Given the description of an element on the screen output the (x, y) to click on. 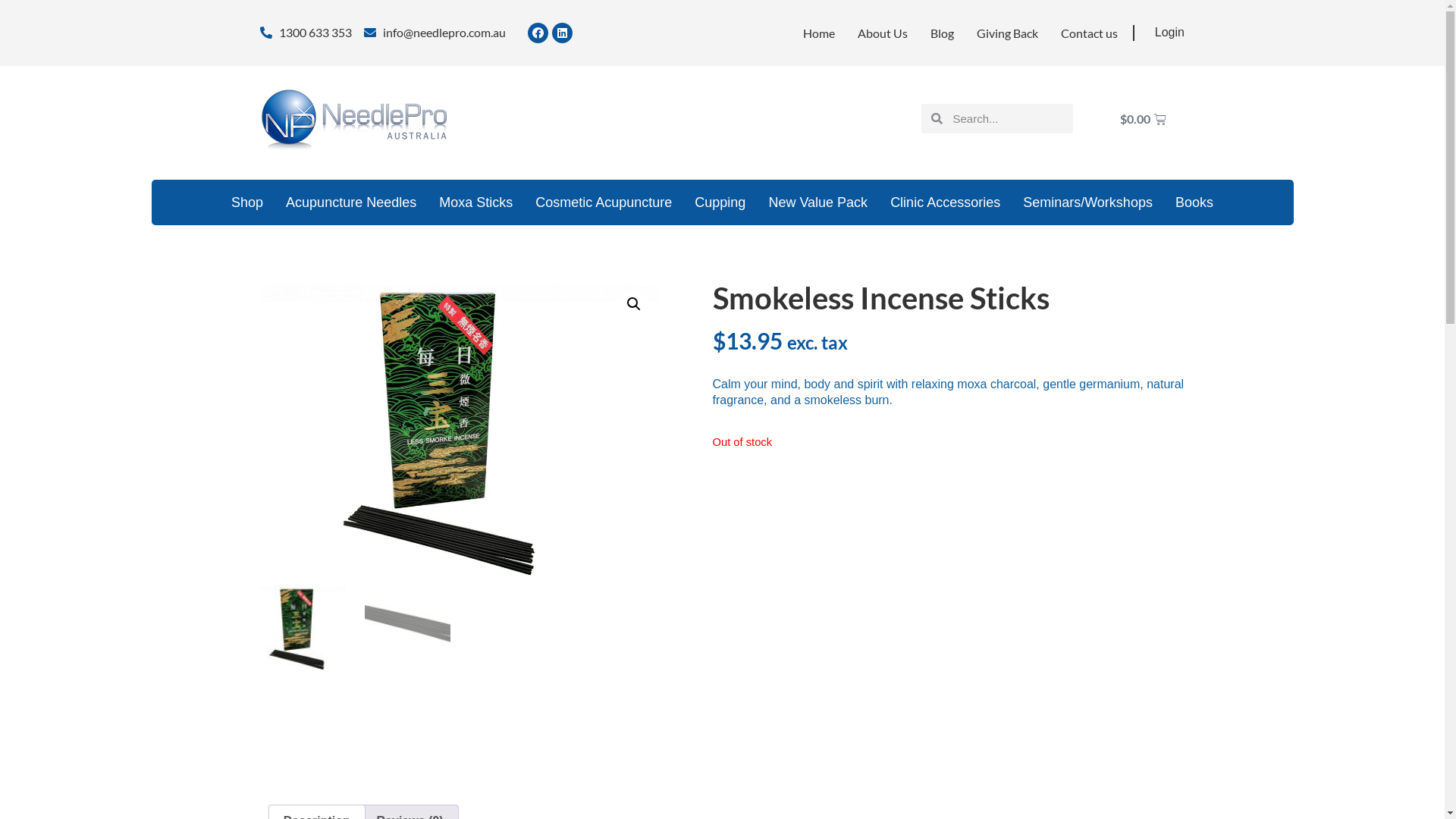
Cupping Element type: text (719, 202)
Shop Element type: text (246, 202)
Home Element type: text (818, 32)
1300 633 353 Element type: text (305, 32)
Login Element type: text (1169, 31)
New Value Pack Element type: text (817, 202)
About Us Element type: text (882, 32)
Giving Back Element type: text (1007, 32)
$0.00 Element type: text (1142, 119)
Seminars/Workshops Element type: text (1087, 202)
Acupuncture Needles Element type: text (350, 202)
Books Element type: text (1194, 202)
Smokeless Incense Sticks Element type: hover (458, 427)
Blog Element type: text (941, 32)
Clinic Accessories Element type: text (944, 202)
Cosmetic Acupuncture Element type: text (603, 202)
Contact us Element type: text (1088, 32)
info@needlepro.com.au Element type: text (434, 32)
Moxa Sticks Element type: text (475, 202)
